Given the description of an element on the screen output the (x, y) to click on. 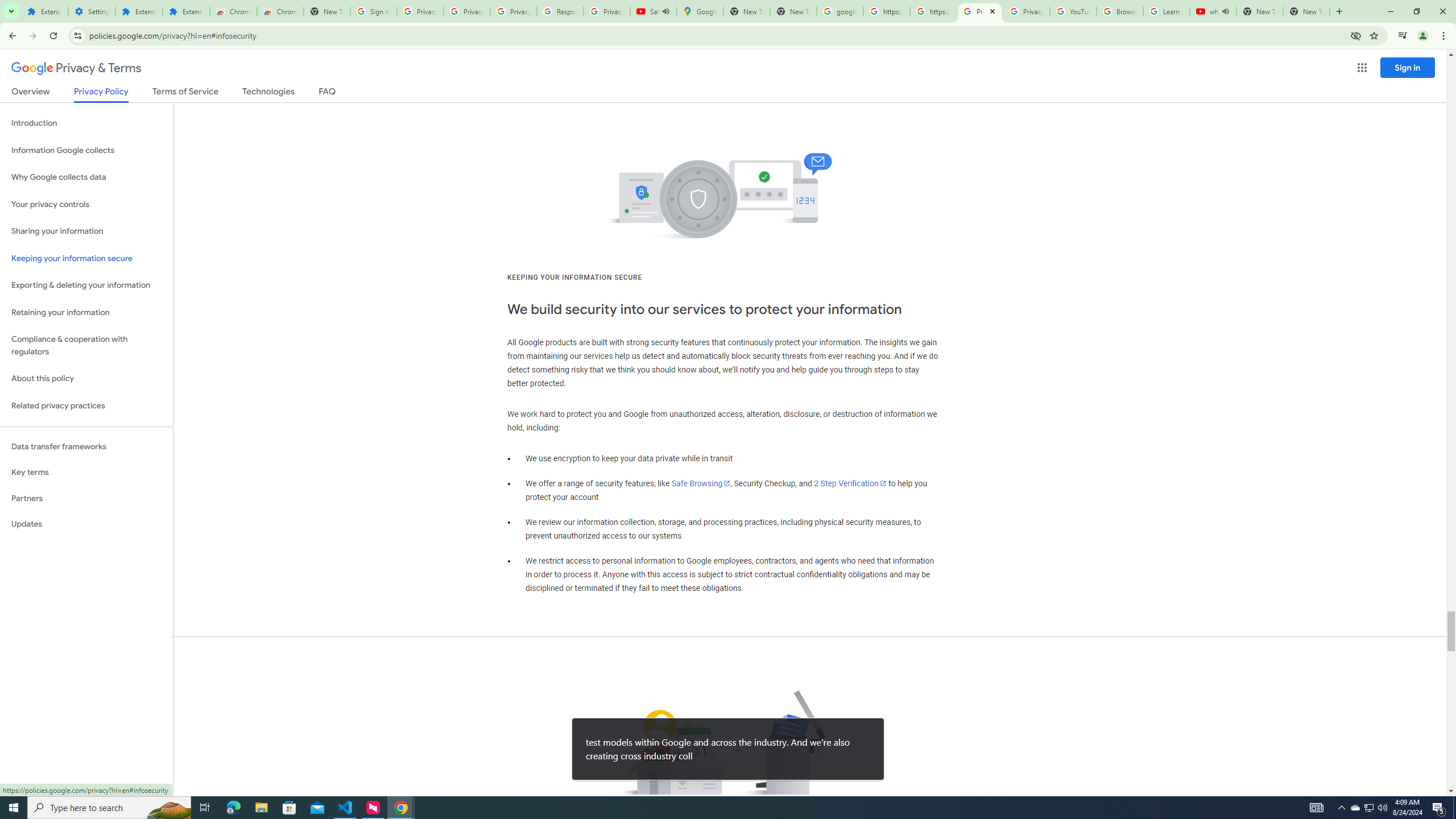
https://scholar.google.com/ (933, 11)
Compliance & cooperation with regulators (86, 345)
Close (992, 11)
About this policy (86, 379)
Introduction (86, 122)
Partners (86, 497)
Related privacy practices (86, 405)
Bookmark this tab (1373, 35)
New Tab (1338, 11)
Updates (86, 524)
